Given the description of an element on the screen output the (x, y) to click on. 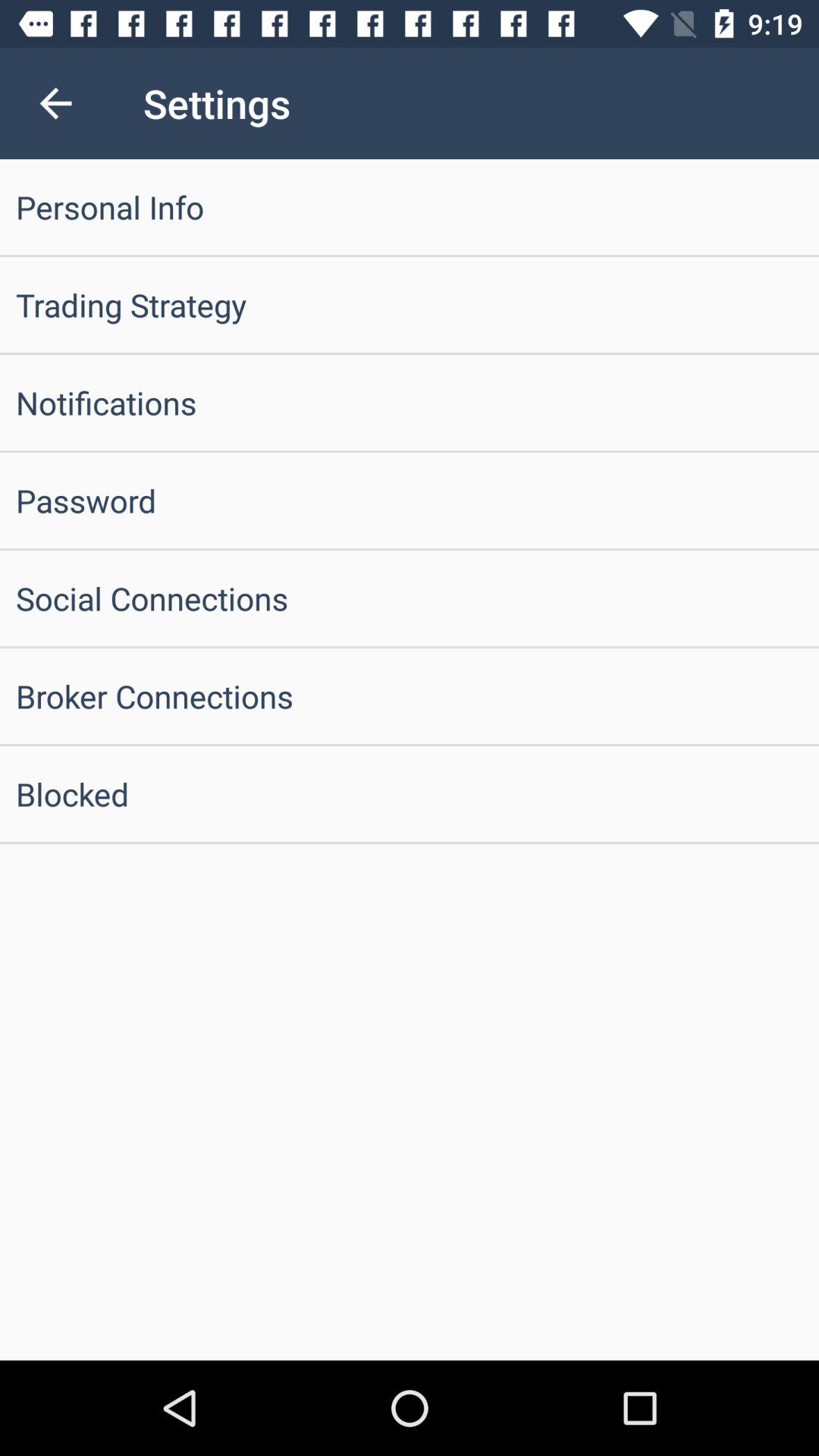
open the trading strategy icon (409, 304)
